Given the description of an element on the screen output the (x, y) to click on. 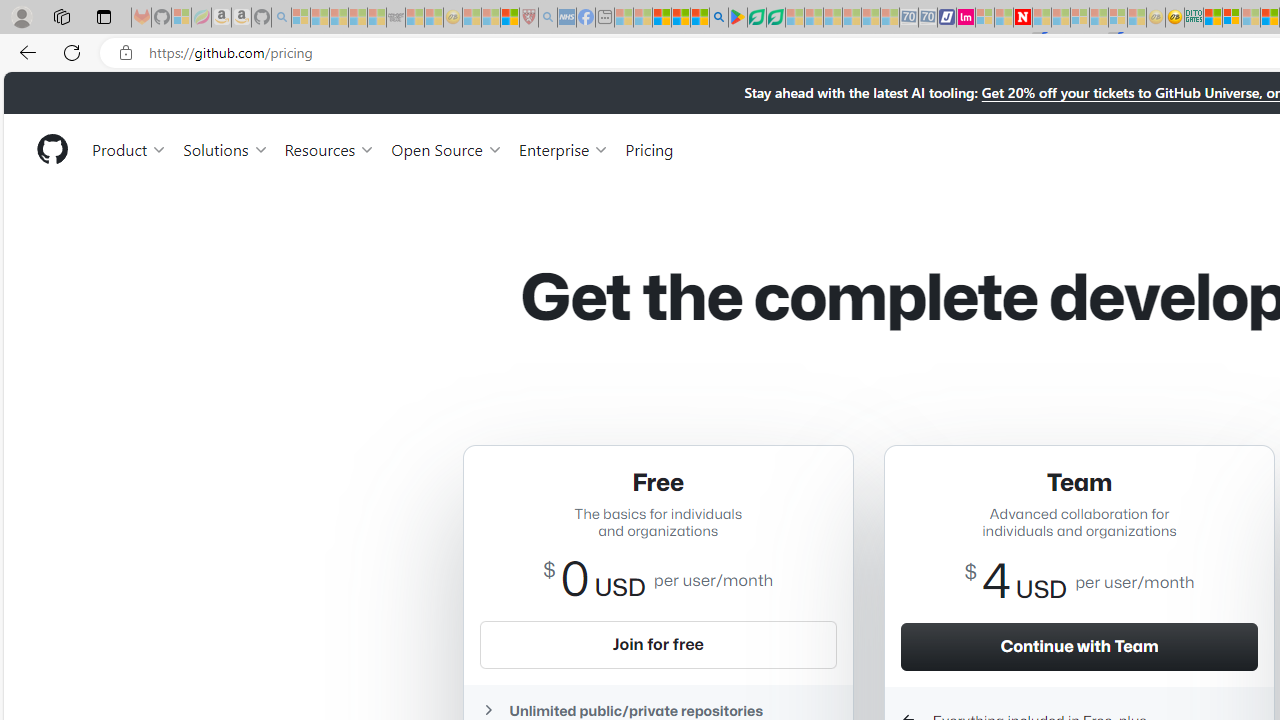
Homepage (51, 149)
Pets - MSN (680, 17)
Solutions (225, 148)
Resources (330, 148)
Jobs - lastminute.com Investor Portal (966, 17)
